Given the description of an element on the screen output the (x, y) to click on. 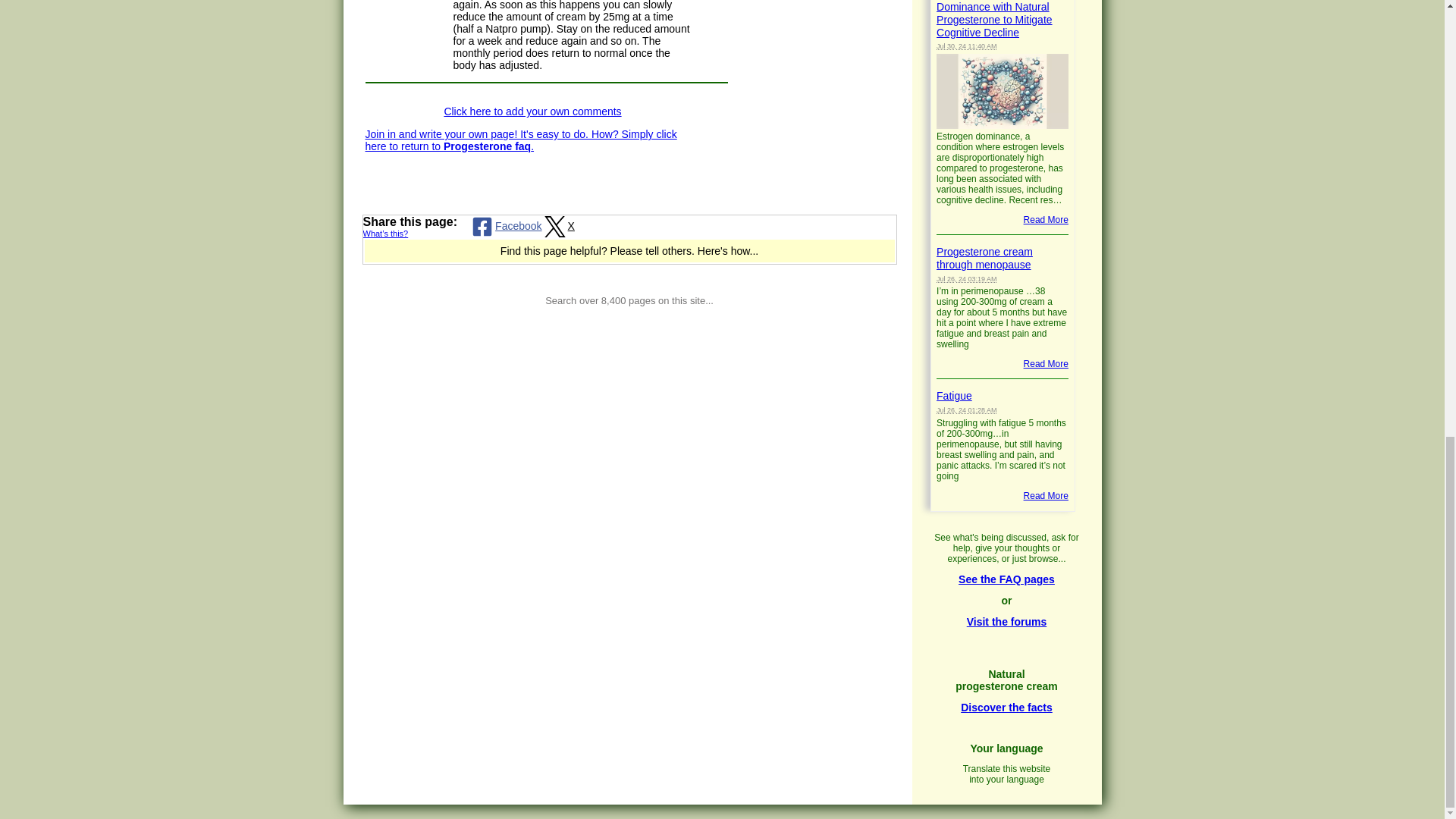
2024-07-26T03:19:18-0400 (966, 278)
2024-07-30T11:40:51-0400 (966, 45)
2024-07-26T01:28:12-0400 (966, 410)
